Given the description of an element on the screen output the (x, y) to click on. 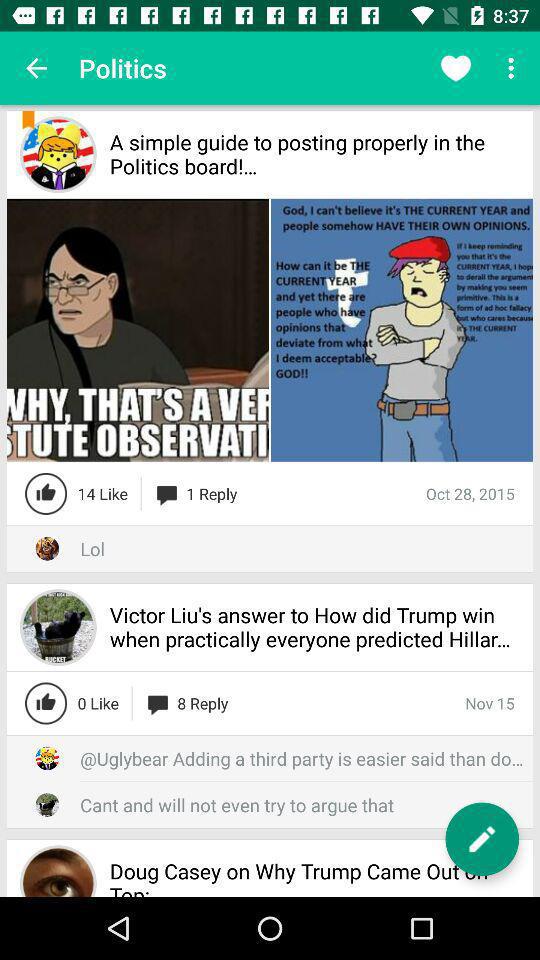
option (482, 839)
